Given the description of an element on the screen output the (x, y) to click on. 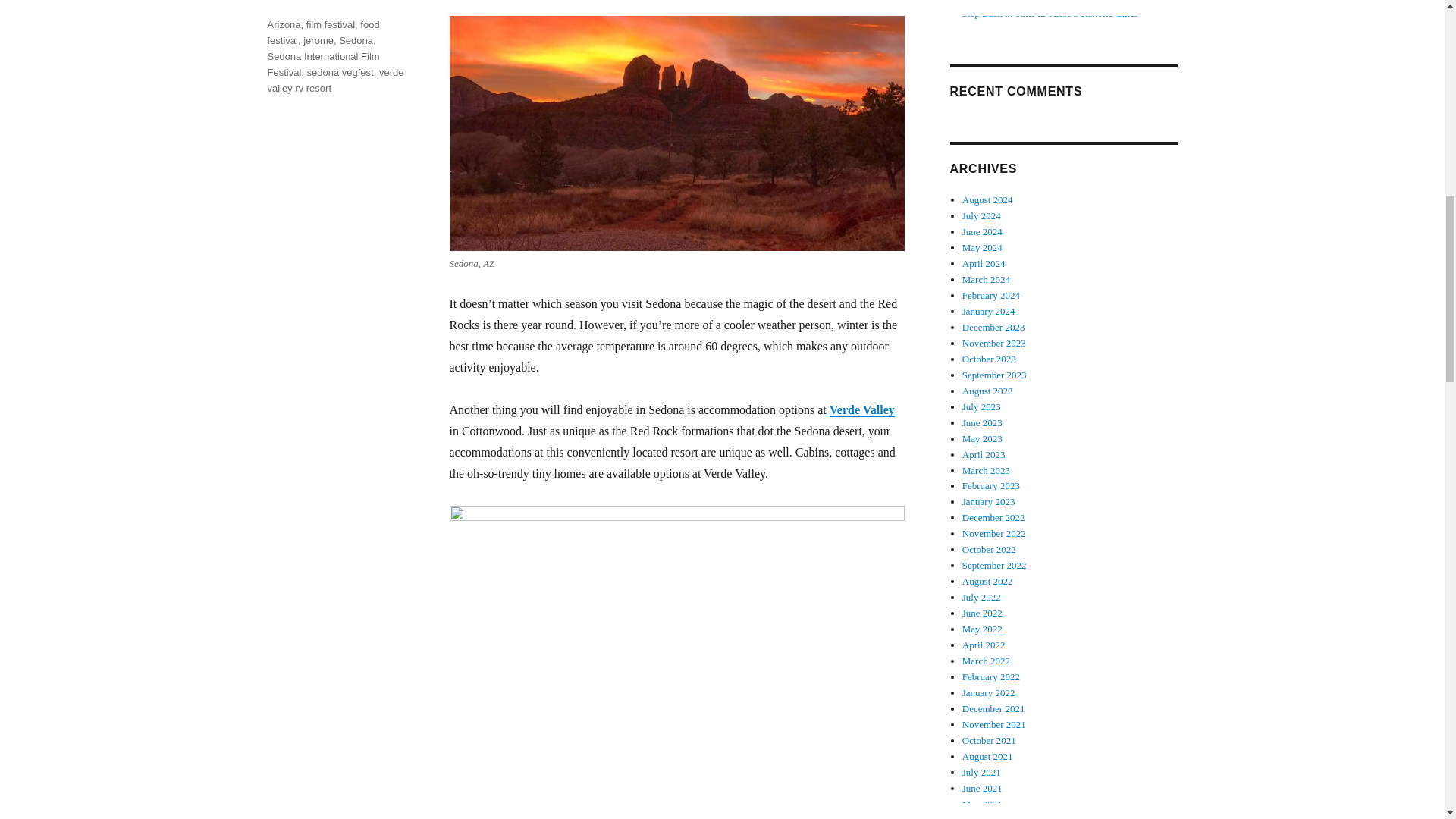
film festival (330, 24)
June 2024 (982, 231)
Sedona (355, 40)
jerome (317, 40)
verde valley rv resort (334, 80)
Sedona International Film Festival (322, 63)
Things To Do (358, 4)
Verde Valley (862, 409)
August 2024 (987, 199)
Local Events (294, 4)
